Given the description of an element on the screen output the (x, y) to click on. 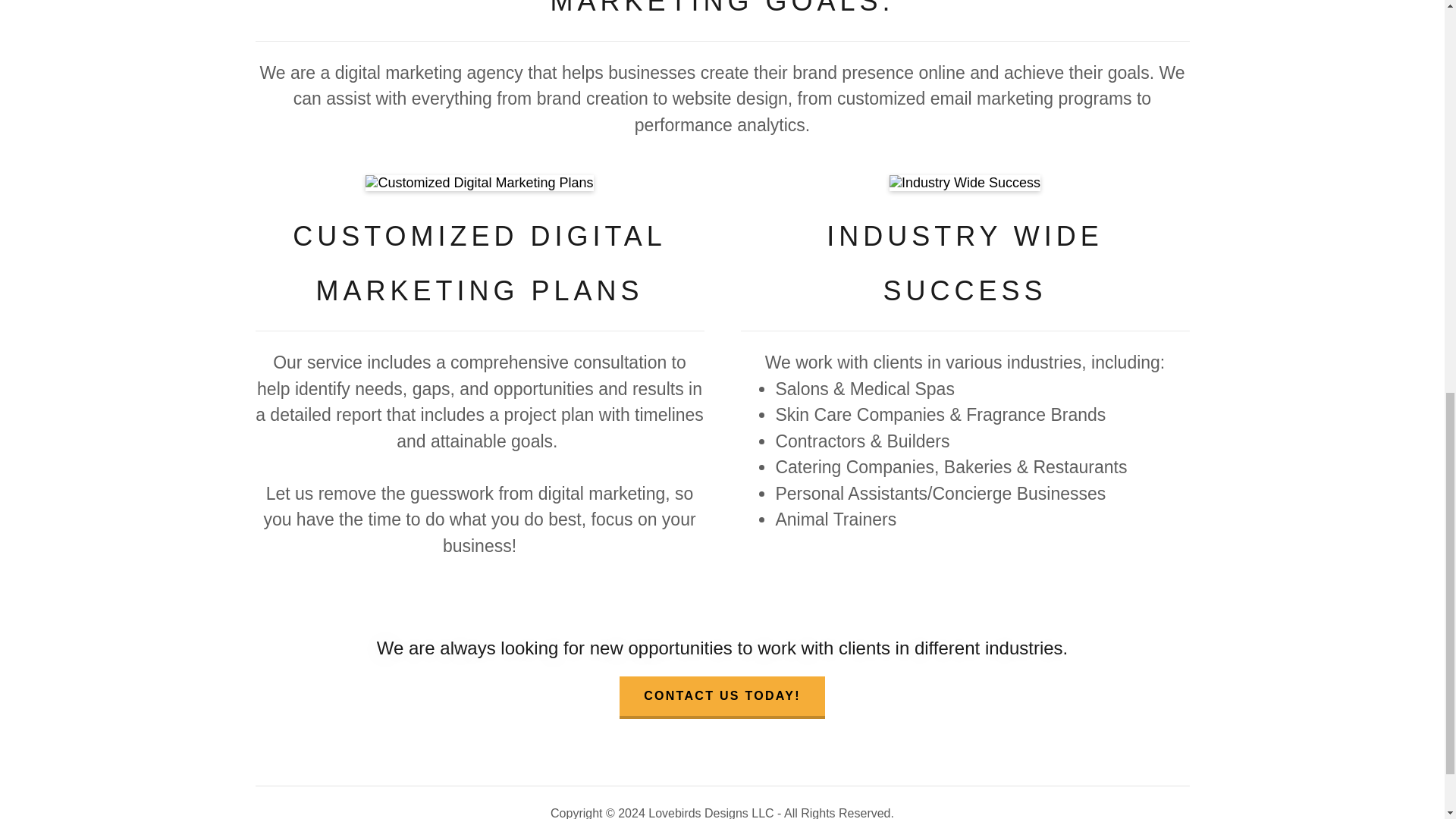
ACCEPT (1274, 324)
CONTACT US TODAY! (722, 697)
